Given the description of an element on the screen output the (x, y) to click on. 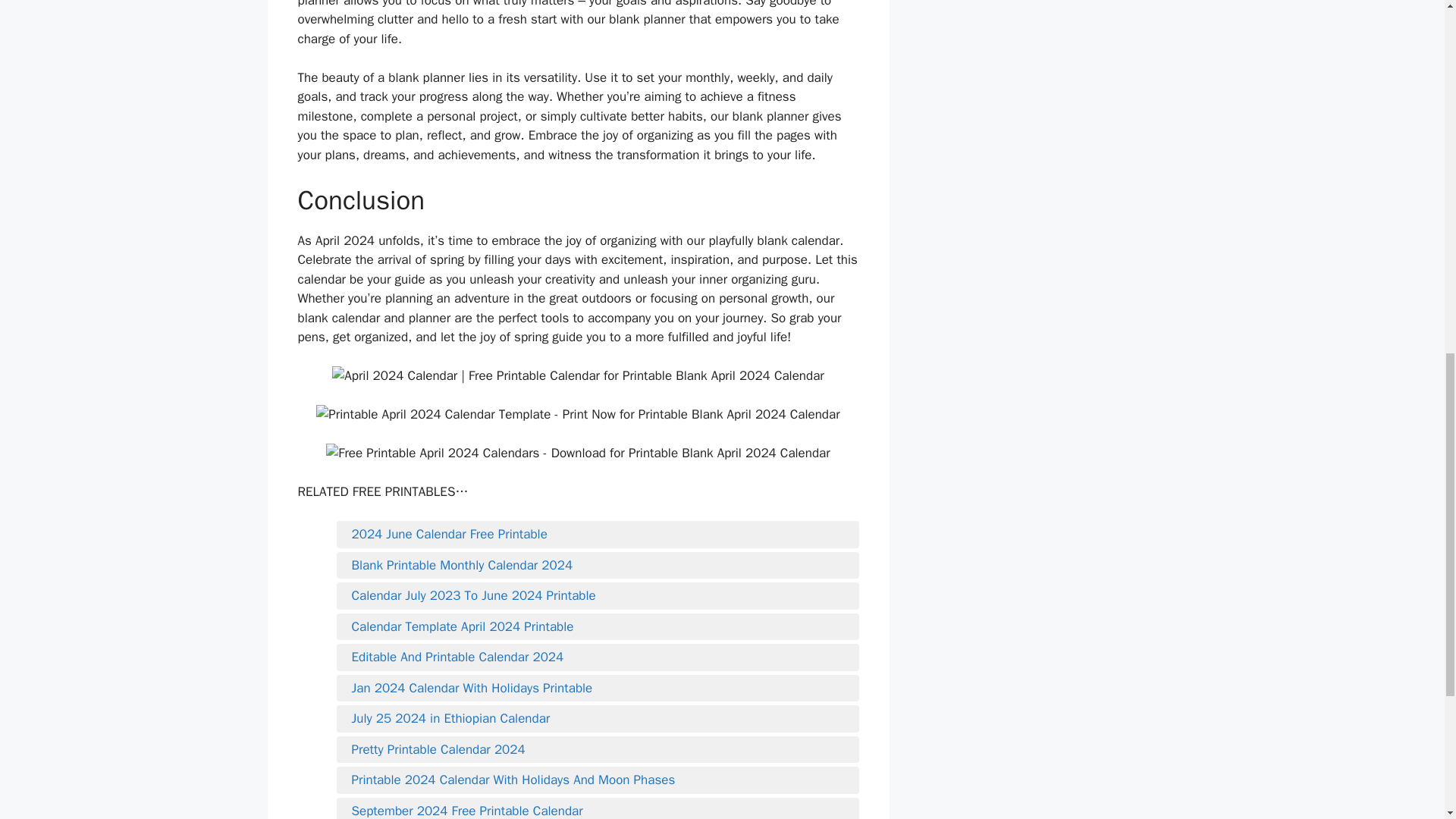
2024 June Calendar Free Printable (597, 534)
Pretty Printable Calendar 2024 (597, 749)
September 2024 Free Printable Calendar (597, 809)
Editable And Printable Calendar 2024 (597, 657)
Calendar Template April 2024 Printable (597, 626)
Calendar July 2023 To June 2024 Printable (597, 595)
Printable 2024 Calendar With Holidays And Moon Phases (597, 780)
Jan 2024 Calendar With Holidays Printable (597, 688)
Blank Printable Monthly Calendar 2024 (597, 565)
July 25 2024 in Ethiopian Calendar (597, 718)
